Given the description of an element on the screen output the (x, y) to click on. 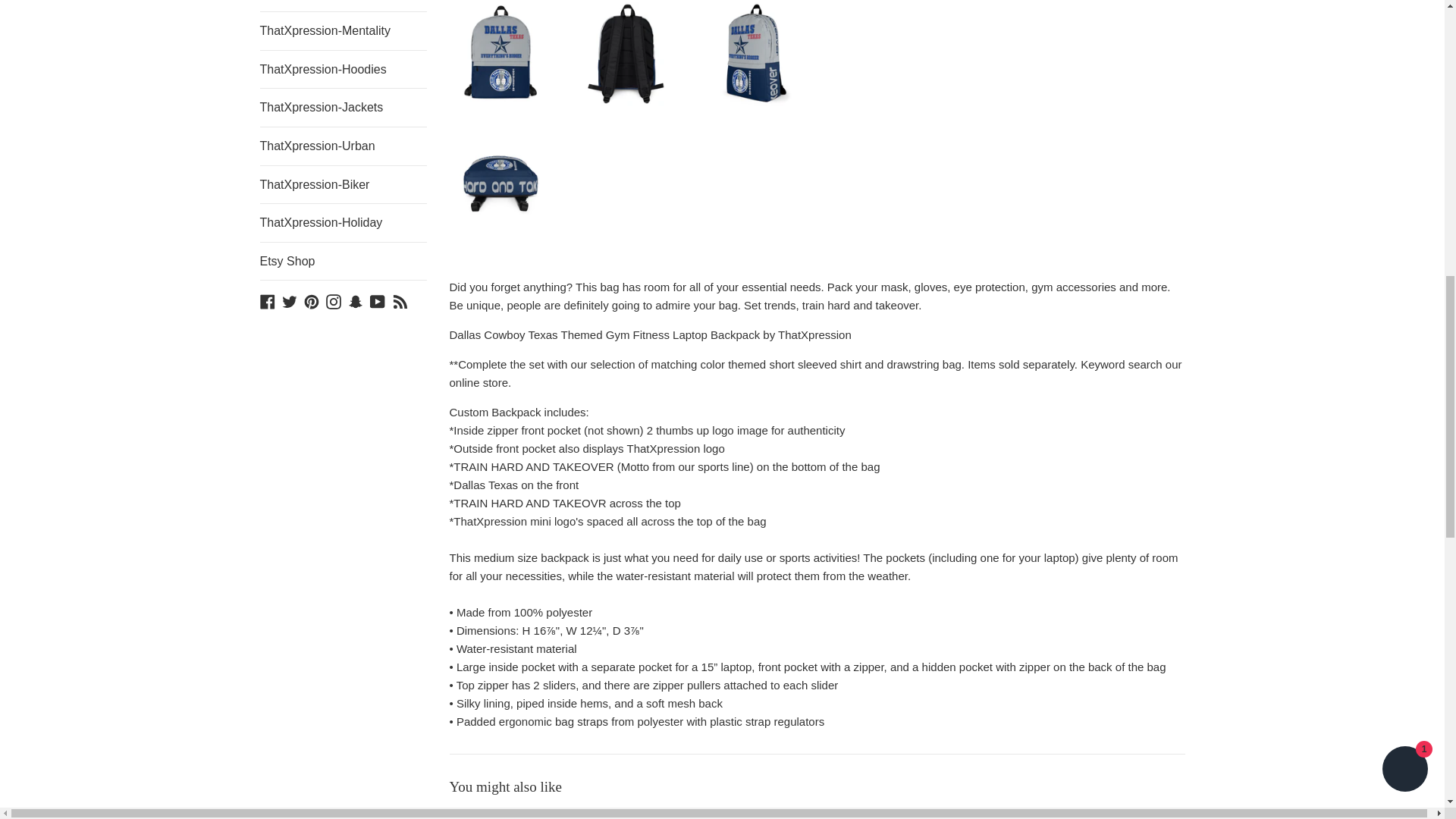
ThatXpression on YouTube (377, 300)
ThatXpression on Snapchat (354, 300)
ThatXpression on Instagram (333, 300)
ThatXpression on Facebook (267, 300)
ThatXpression on Pinterest (311, 300)
ThatXpression on Twitter (289, 300)
